Given the description of an element on the screen output the (x, y) to click on. 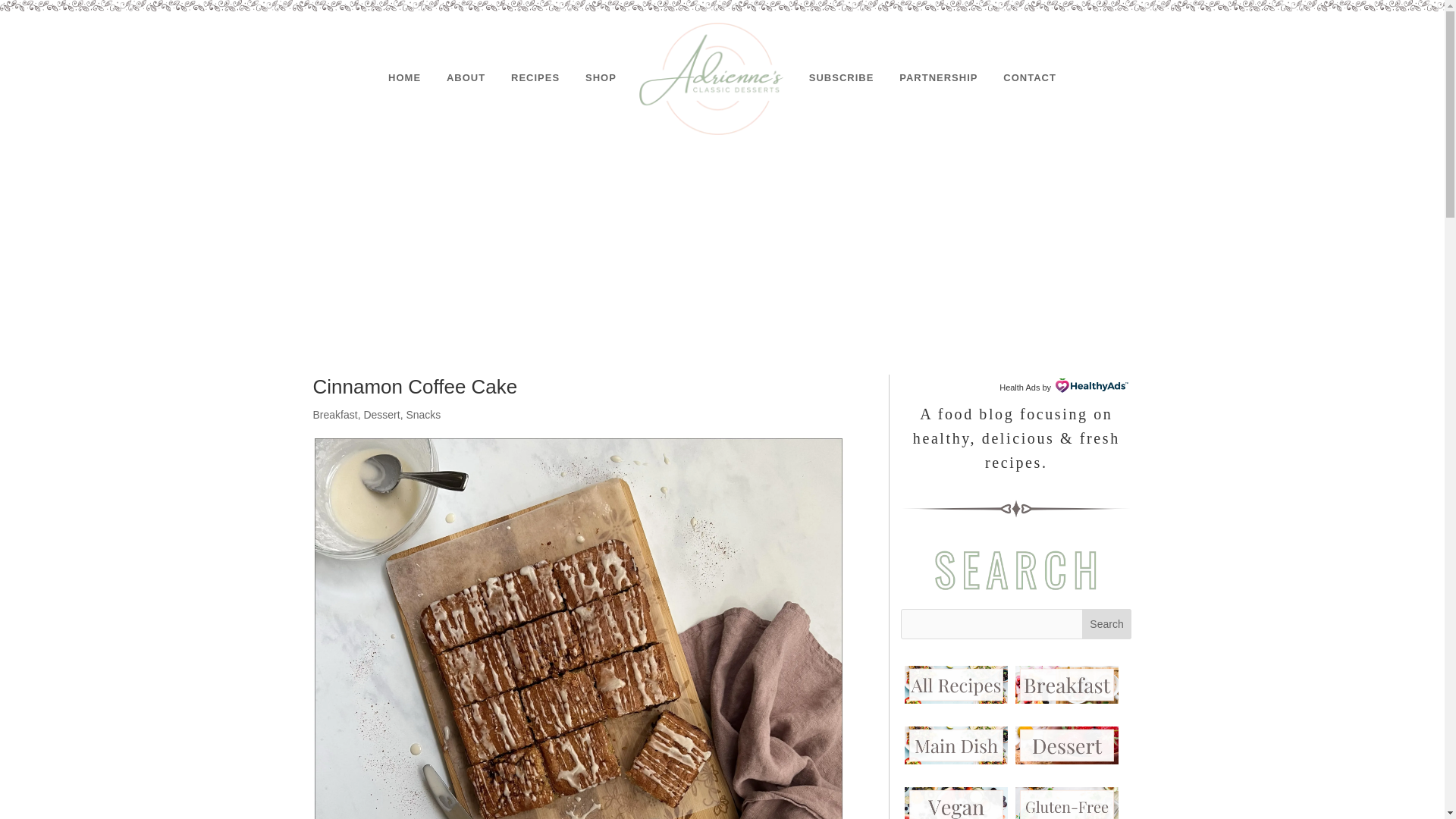
PARTNERSHIP (937, 77)
CONTACT (1030, 77)
ABOUT (465, 77)
HOME (404, 77)
Snacks (423, 414)
Health Ads (1018, 387)
Dessert (380, 414)
Breakfast (334, 414)
RECIPES (535, 77)
SUBSCRIBE (842, 77)
SHOP (600, 77)
